Given the description of an element on the screen output the (x, y) to click on. 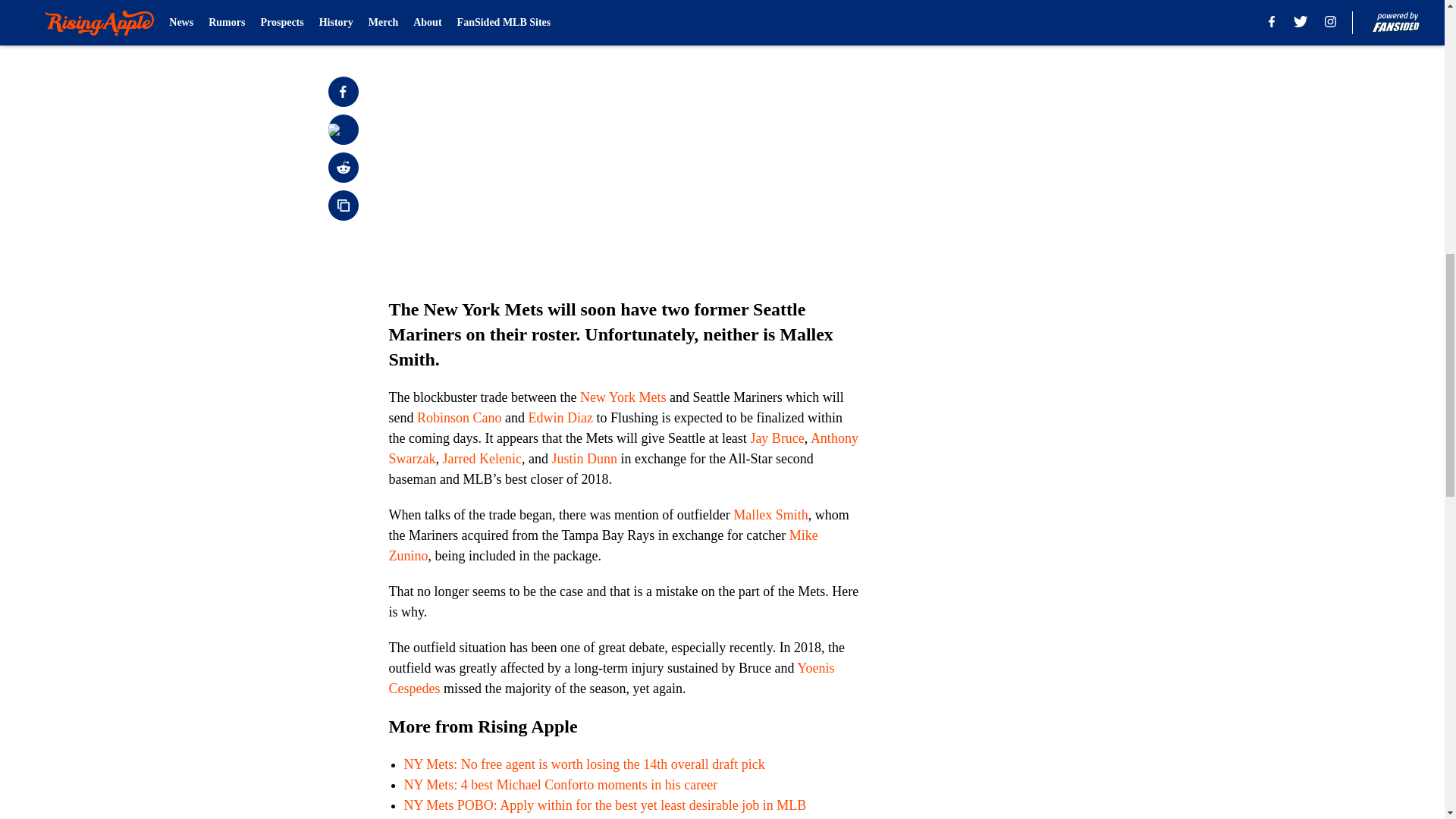
Mallex Smith (770, 514)
Justin Dunn (584, 458)
Anthony Swarzak (622, 448)
Yoenis Cespedes (611, 678)
Jarred Kelenic (481, 458)
Mike Zunino (602, 545)
Edwin Diaz (560, 417)
New York Mets (622, 396)
NY Mets: 4 best Michael Conforto moments in his career (560, 784)
Jay Bruce (776, 437)
Robinson Cano (459, 417)
